Given the description of an element on the screen output the (x, y) to click on. 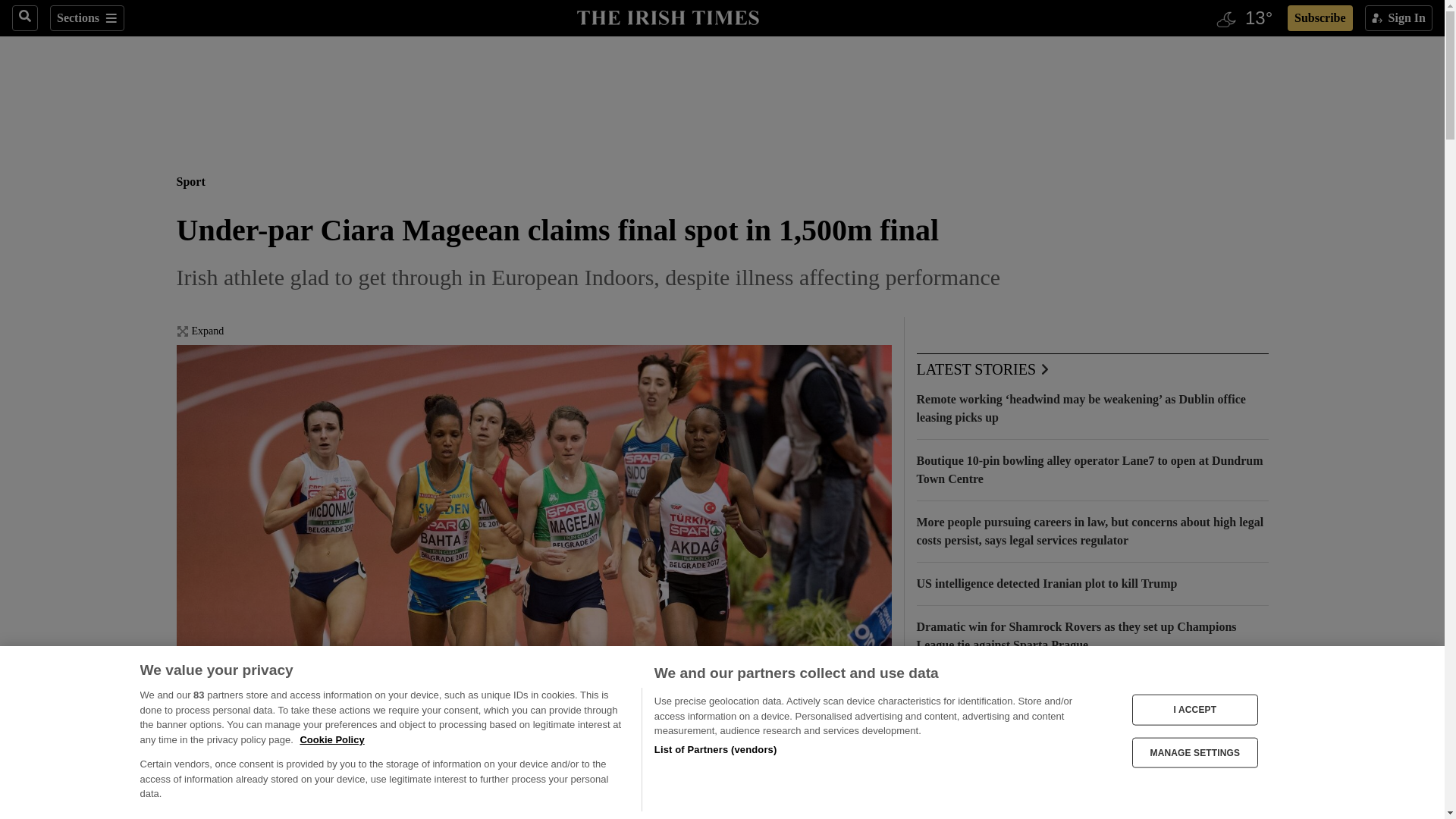
Subscribe (1319, 17)
The Irish Times (667, 16)
Sections (86, 17)
Sign In (1398, 17)
